Given the description of an element on the screen output the (x, y) to click on. 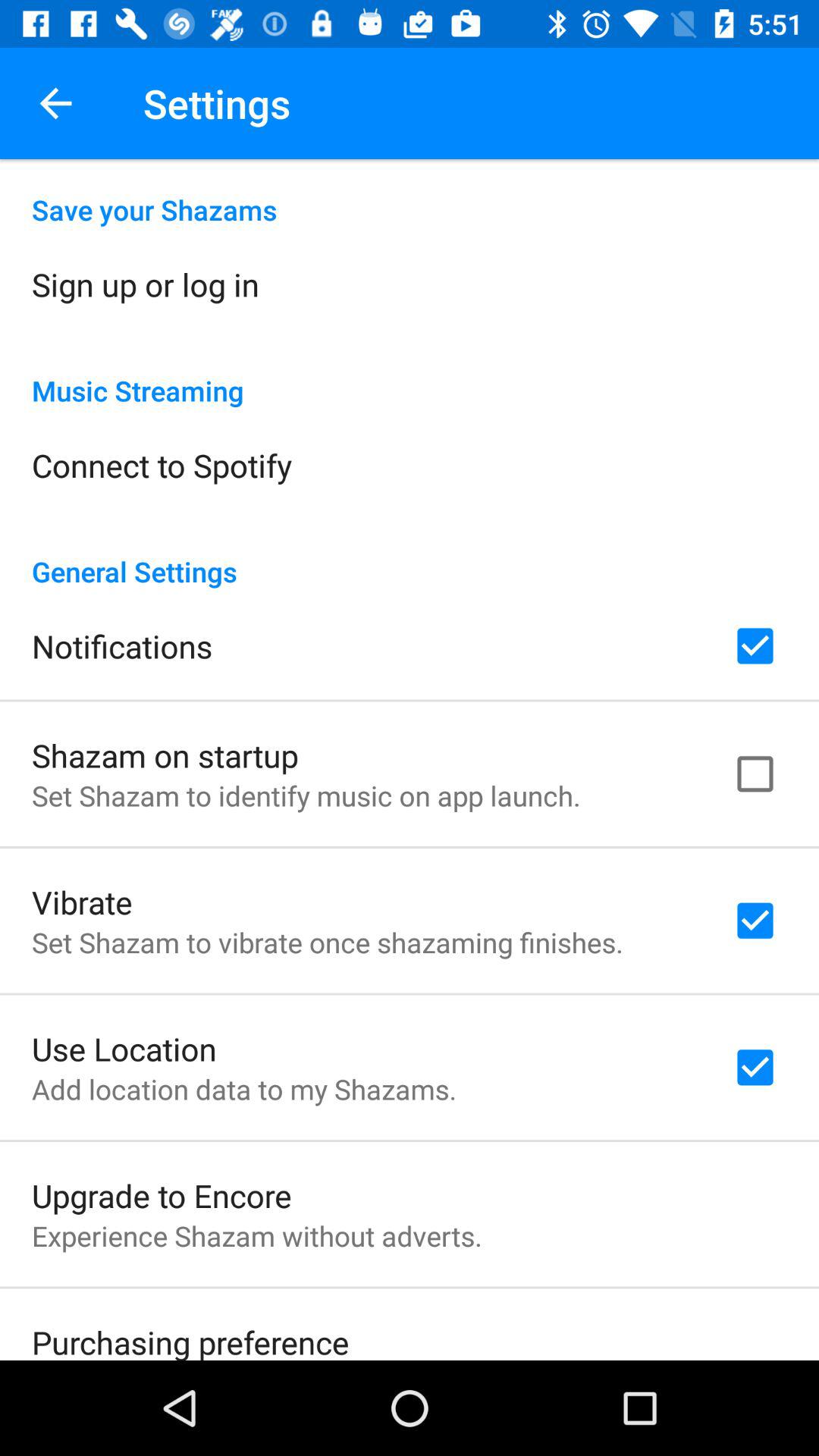
flip until the sign up or item (145, 283)
